Given the description of an element on the screen output the (x, y) to click on. 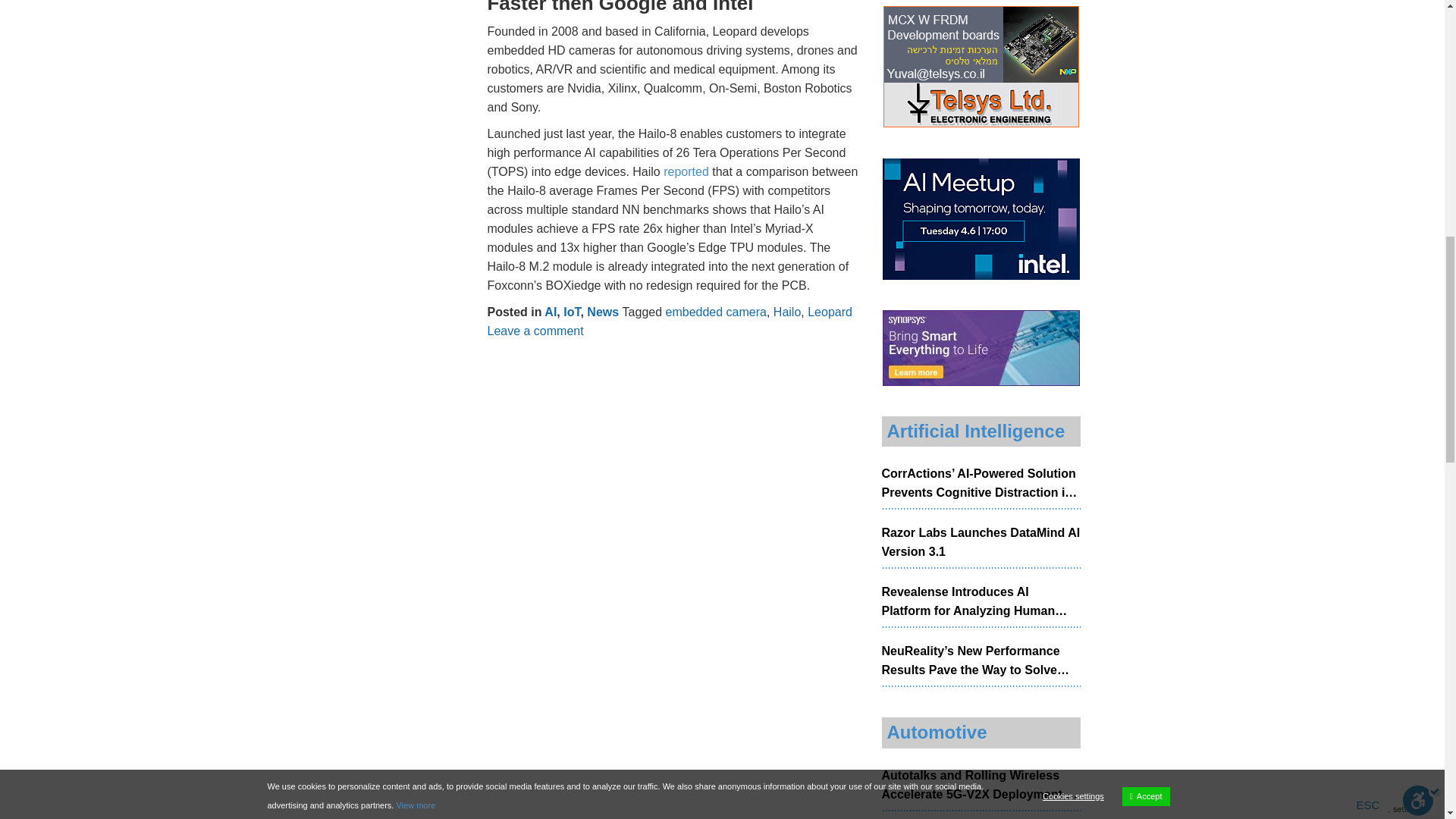
High-contrast presentation of page (392, 32)
Highlighting all headings marked with title tag (652, 32)
Presenting an alternative description on mouseover (825, 32)
Cancel and Stop display flashes and animations (133, 32)
Highlighting all links marked with link tag (737, 32)
Display the page in brown sepia color (305, 32)
High-contrast of black and yellow (478, 32)
Inverting the colors of the screen display (565, 32)
Navigation on the screen with the keyboard (46, 32)
